Given the description of an element on the screen output the (x, y) to click on. 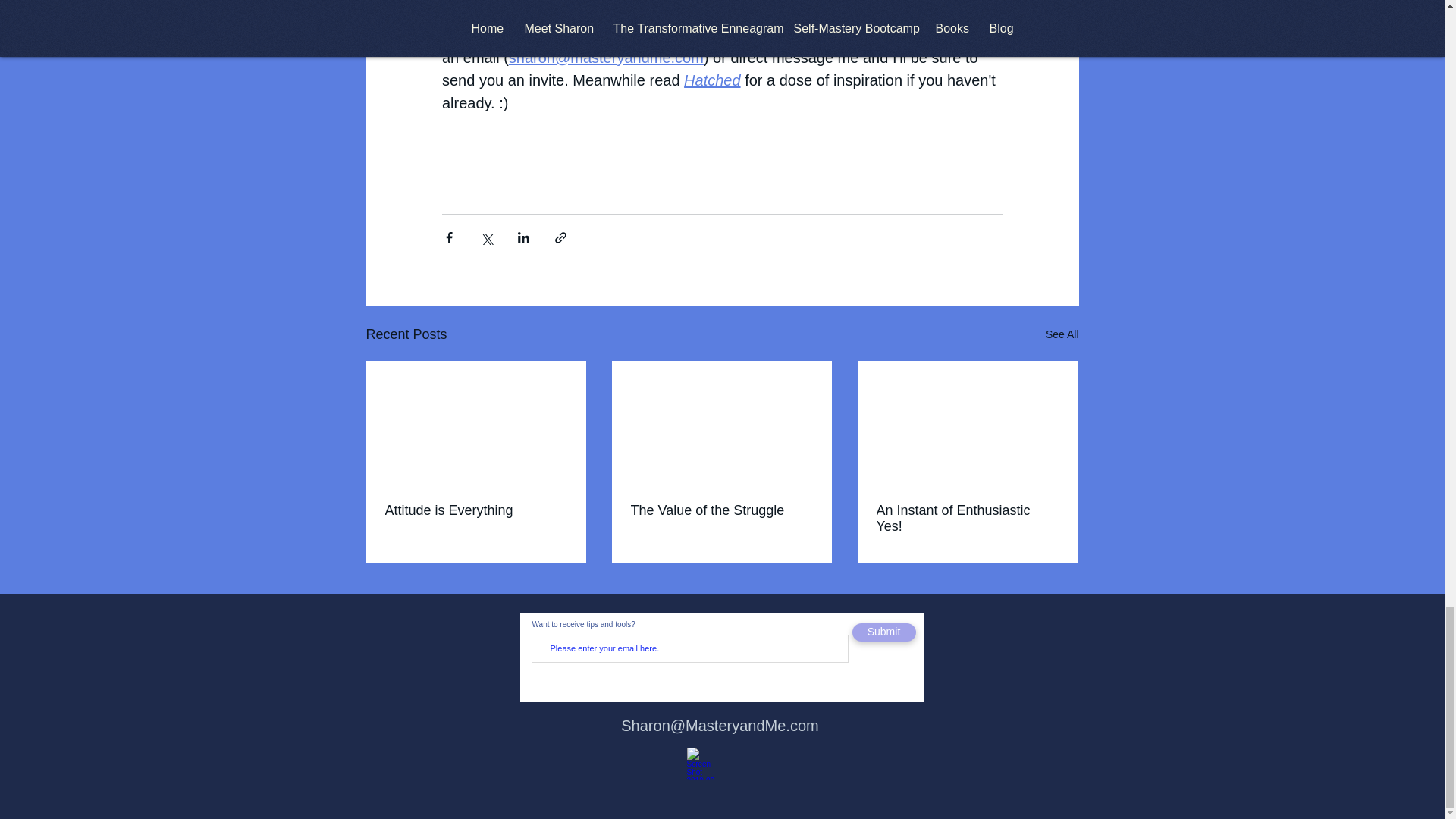
The Value of the Struggle (721, 510)
See All (1061, 334)
Submit (883, 632)
Attitude is Everything (476, 510)
An Instant of Enthusiastic Yes! (967, 518)
Hatched (712, 80)
